Given the description of an element on the screen output the (x, y) to click on. 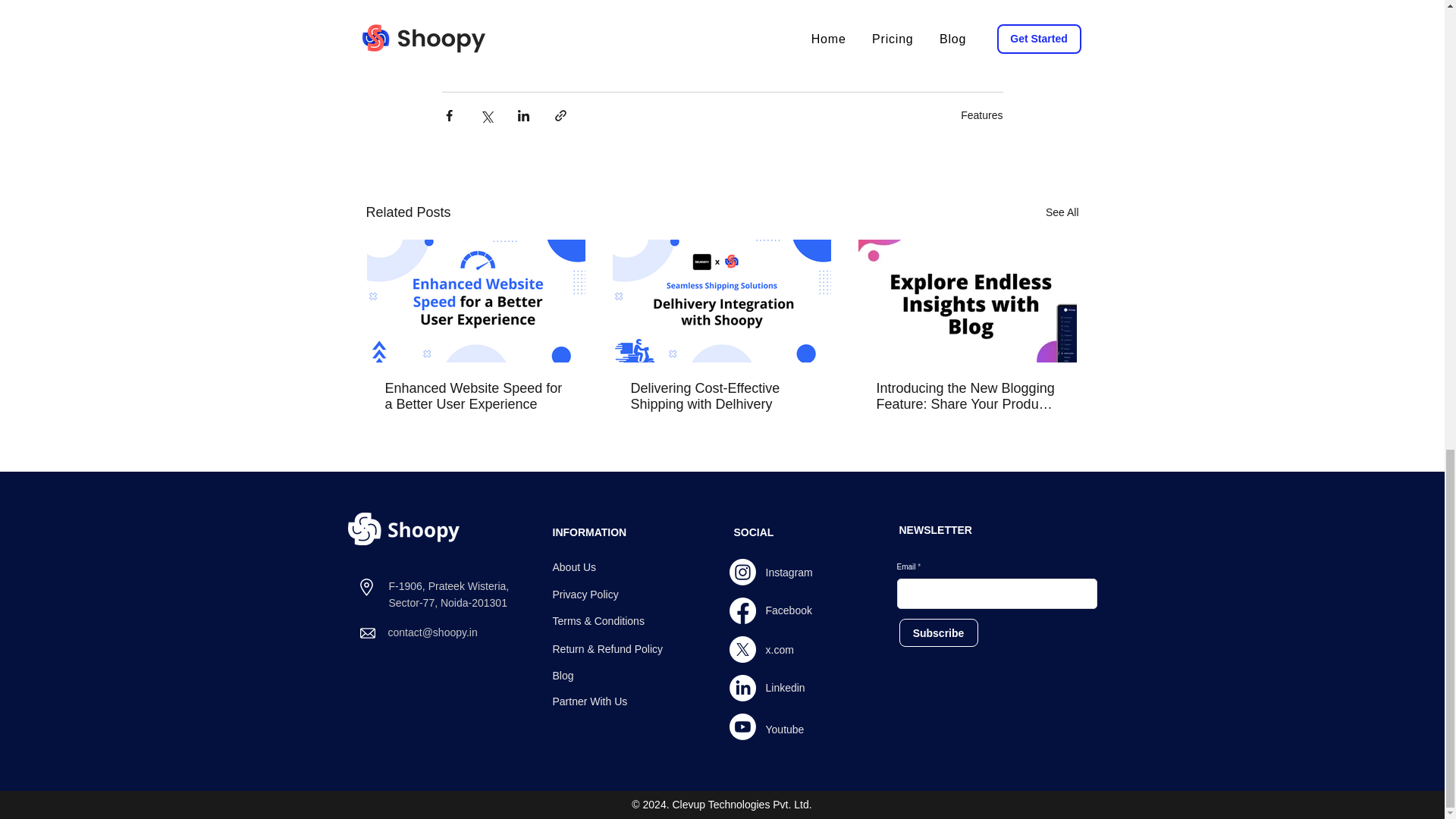
Enhanced Website Speed for a Better User Experience (476, 396)
Privacy Policy (584, 594)
spylogo.png (402, 528)
Instagram (788, 572)
Features (981, 114)
About Us (573, 567)
Blog (562, 675)
Facebook (788, 610)
Delivering Cost-Effective Shipping with Delhivery (721, 396)
